Given the description of an element on the screen output the (x, y) to click on. 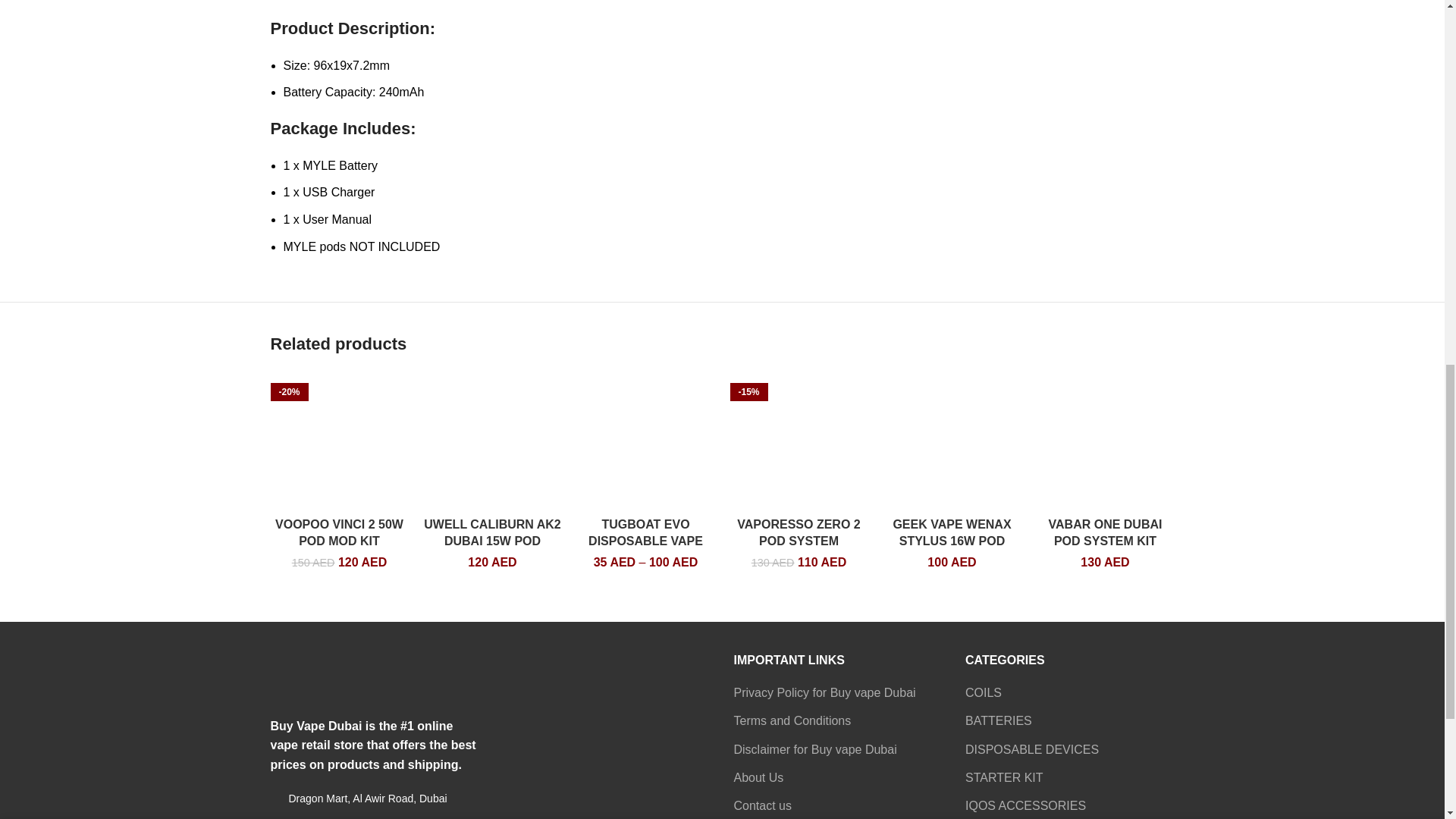
wd-cursor-light (275, 798)
